Given the description of an element on the screen output the (x, y) to click on. 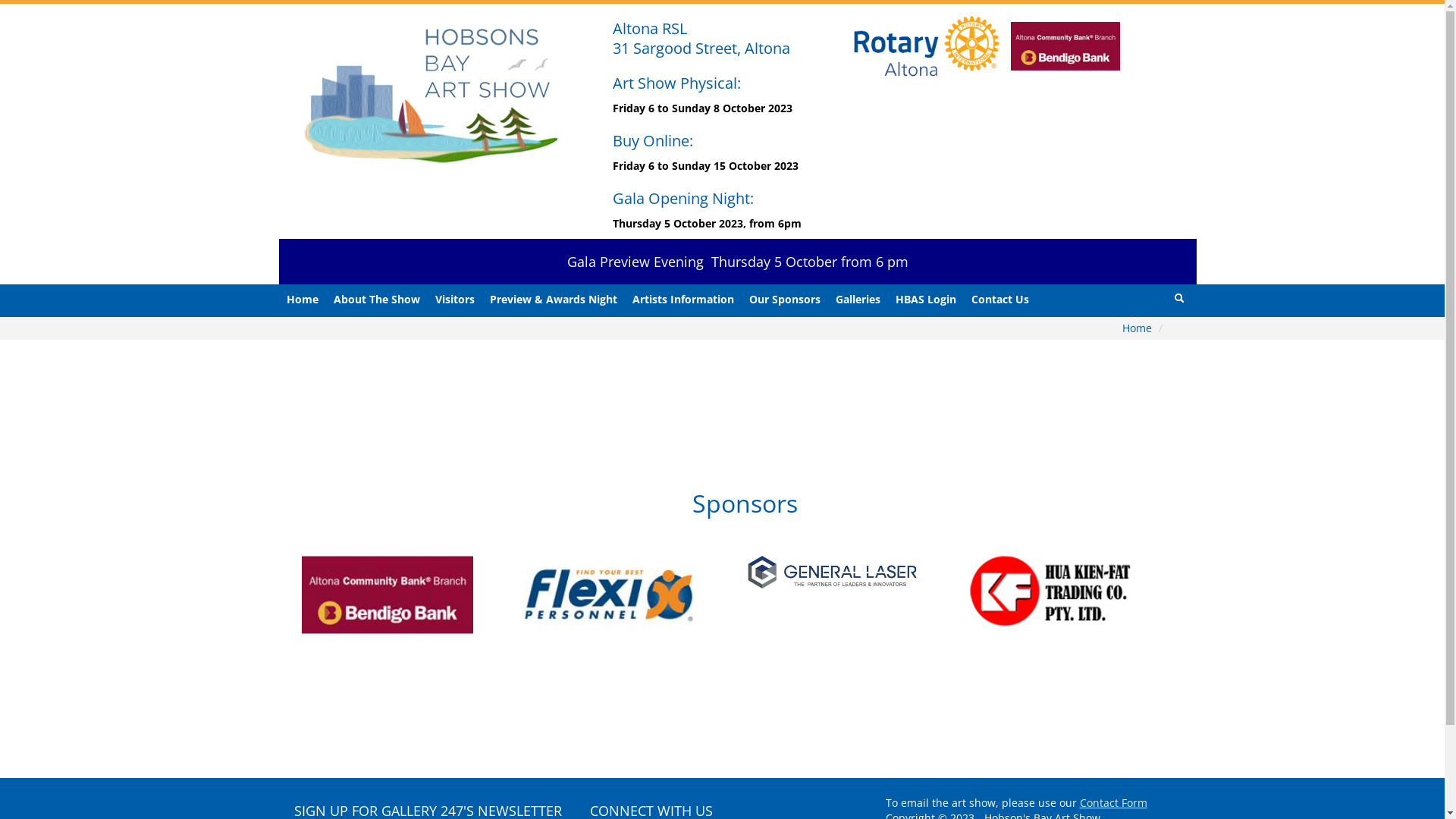
Bendigo Bank - Altona Community Bank(R) Branch Element type: hover (442, 595)
Flexipersonnel Element type: hover (644, 595)
Gala Preview Evening  Thursday 5 October from 6 pm Element type: text (737, 261)
Contact Form Element type: text (1113, 802)
Home Element type: text (1138, 327)
Artists Information Element type: text (682, 299)
General Laser Element type: hover (858, 571)
Our Sponsors Element type: text (784, 299)
About The Show Element type: text (376, 299)
Galleries Element type: text (858, 299)
Preview & Awards Night Element type: text (553, 299)
Contact Us Element type: text (999, 299)
HBAS Login Element type: text (925, 299)
Home Element type: text (302, 299)
Sponsors Element type: text (744, 502)
Art Show Physical: Element type: text (676, 82)
Altona Community Bank Branches - Bendigo Bank Element type: hover (1064, 46)
Buy Online: Element type: text (652, 140)
Visitors Element type: text (454, 299)
Outlets Co-op Neighbourhood House Element type: hover (242, 638)
